Given the description of an element on the screen output the (x, y) to click on. 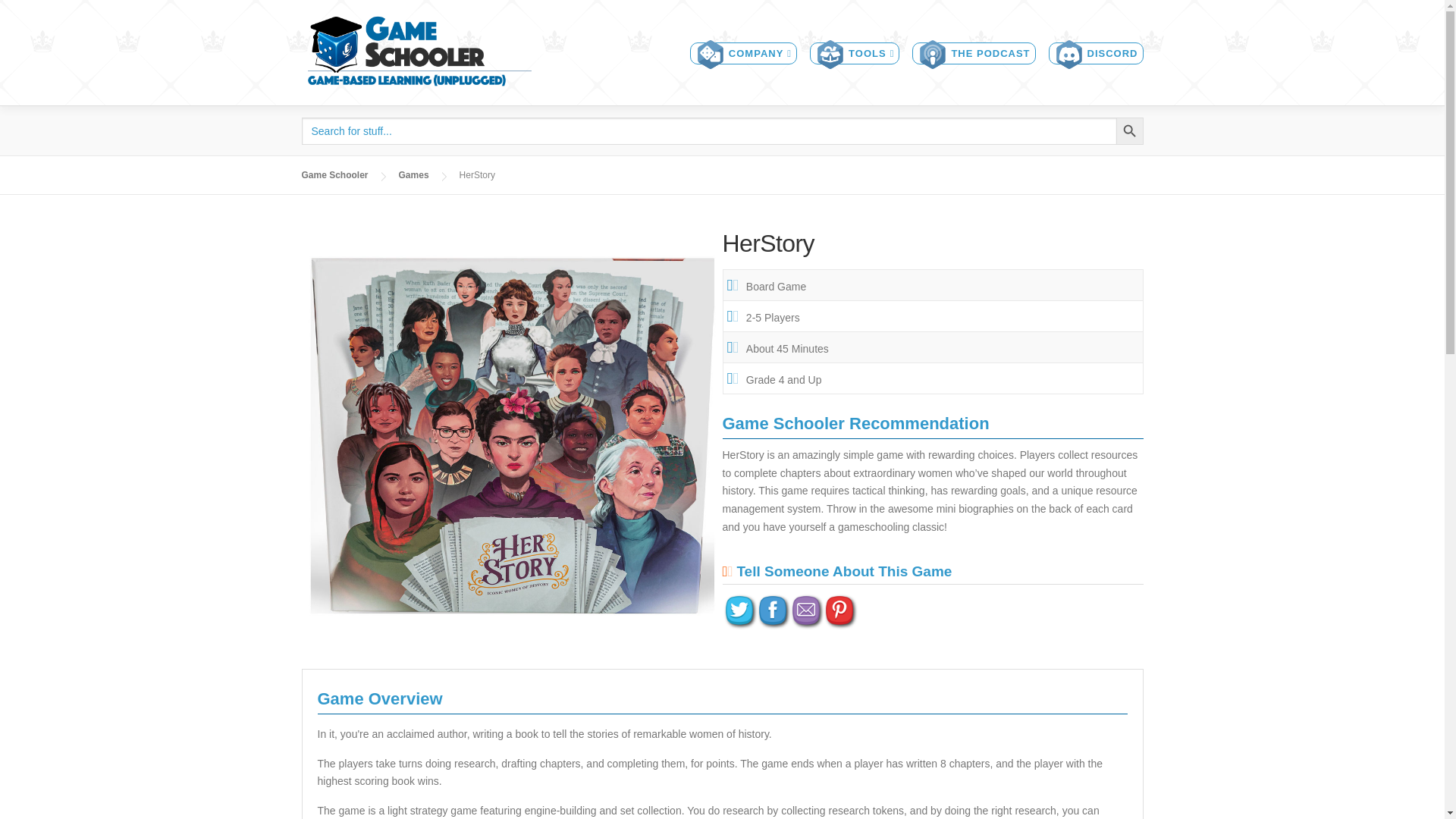
TOOLS (847, 54)
Facebook (772, 611)
COMPANY (736, 54)
Pinterest (839, 611)
Search Button (1129, 130)
Game Schooler (334, 174)
Twitter (738, 611)
Go to Games. (413, 174)
Games (413, 174)
DISCORD (1088, 54)
